Given the description of an element on the screen output the (x, y) to click on. 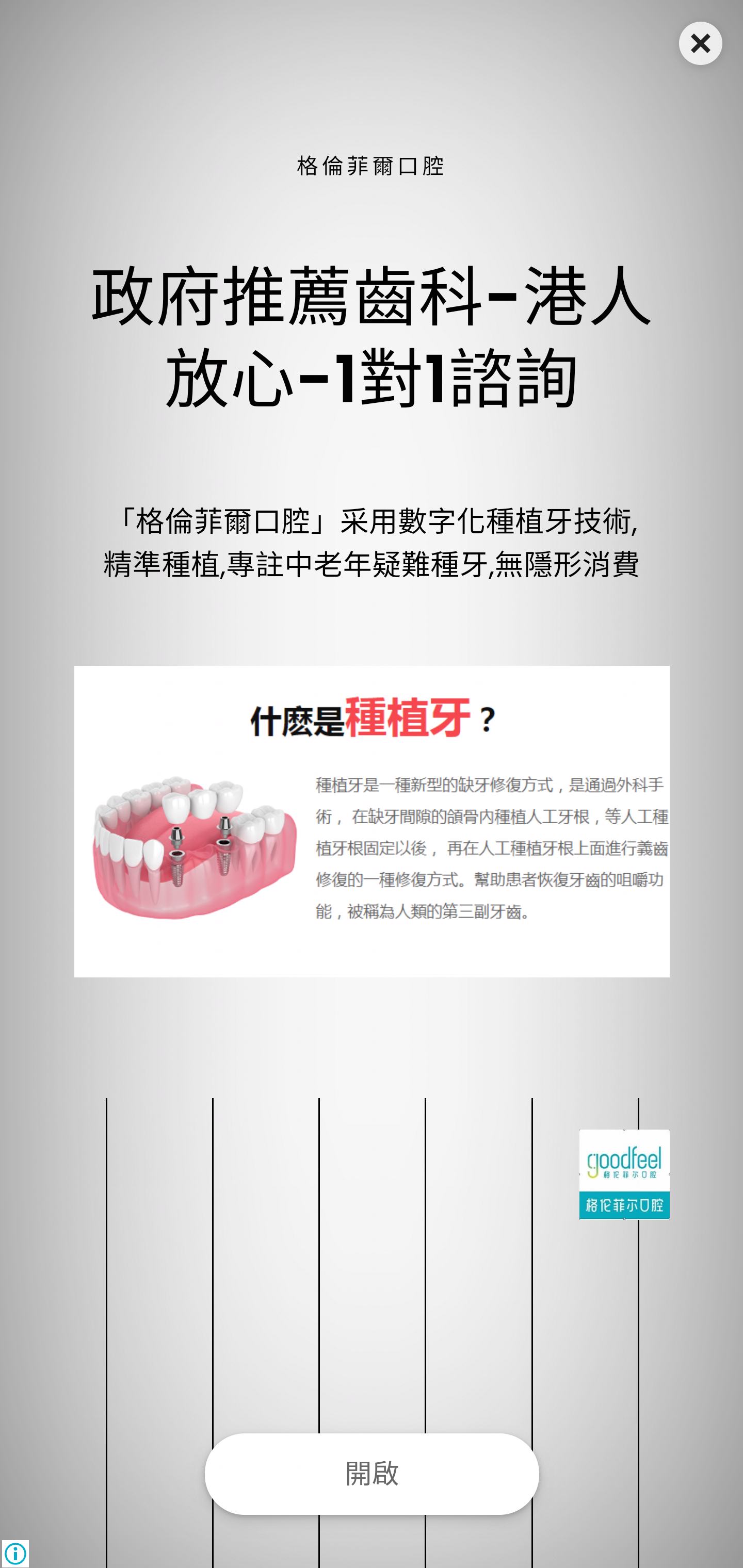
開啟 (371, 1474)
